Given the description of an element on the screen output the (x, y) to click on. 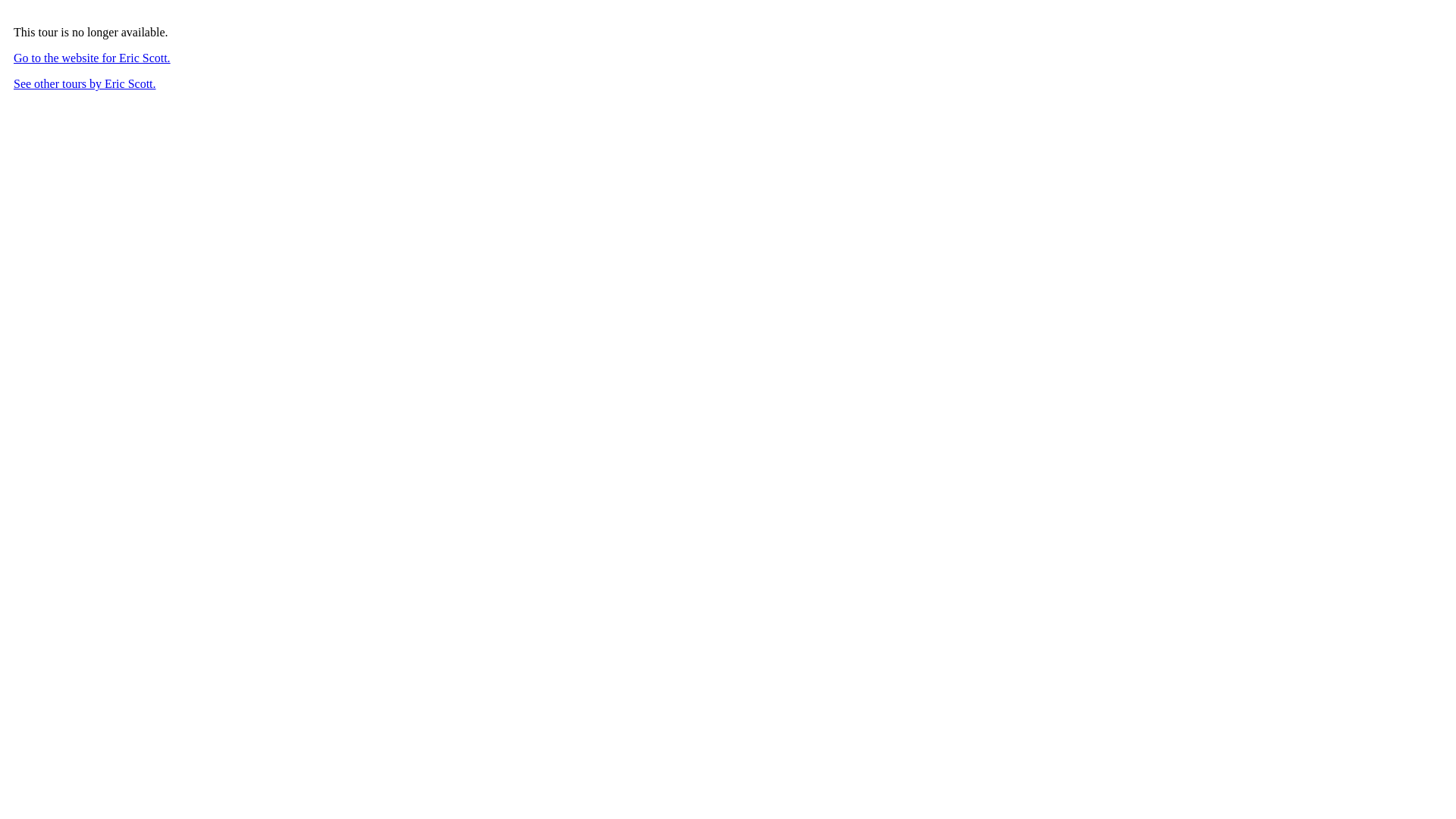
Go to the website for Eric Scott. Element type: text (91, 57)
See other tours by Eric Scott. Element type: text (84, 83)
